Given the description of an element on the screen output the (x, y) to click on. 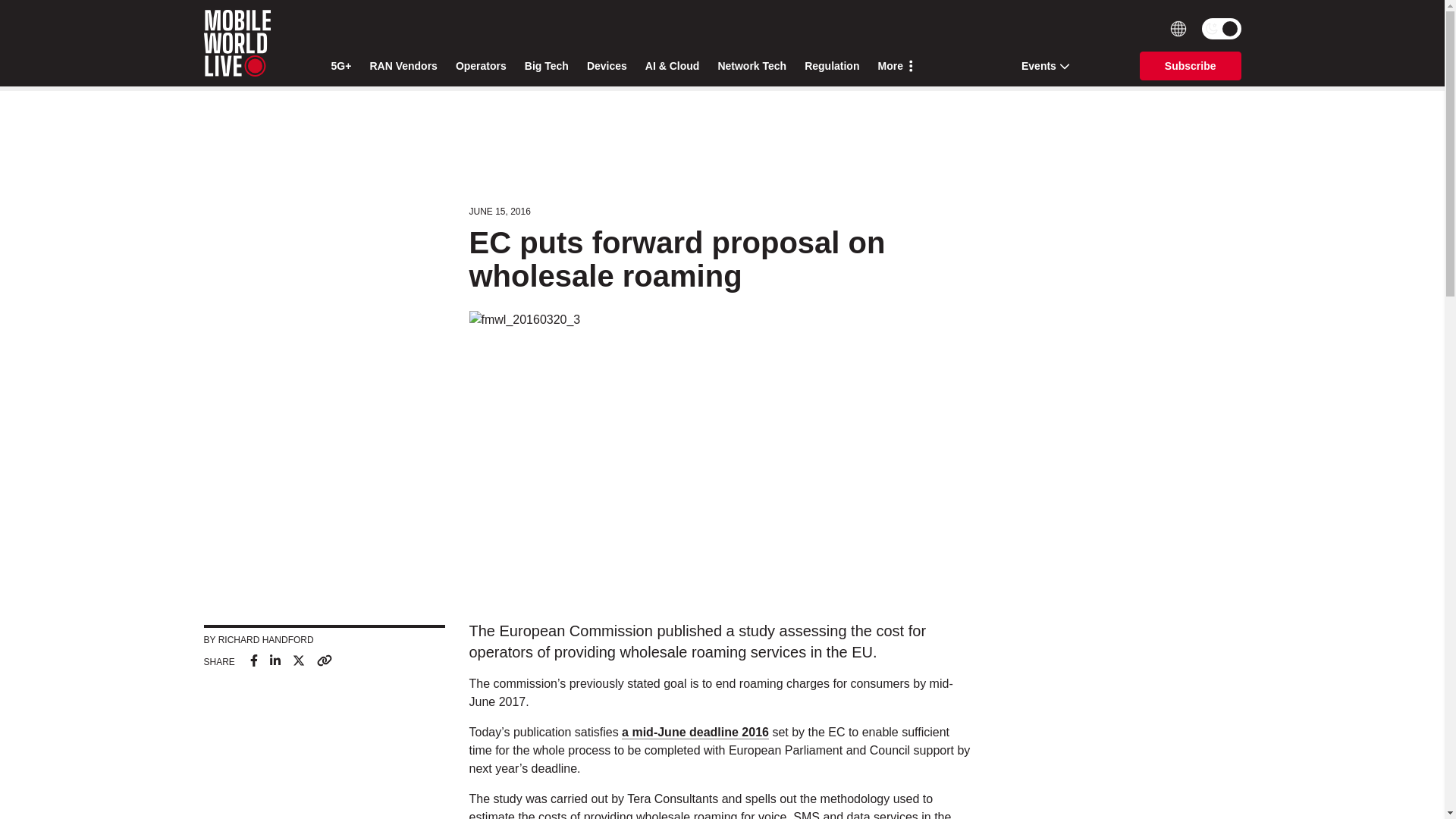
Events (1040, 65)
Network Tech (751, 65)
Devices (606, 65)
RAN Vendors (402, 65)
More (894, 65)
Subscribe (1190, 65)
Operators (480, 65)
Regulation (832, 65)
Big Tech (546, 65)
